Given the description of an element on the screen output the (x, y) to click on. 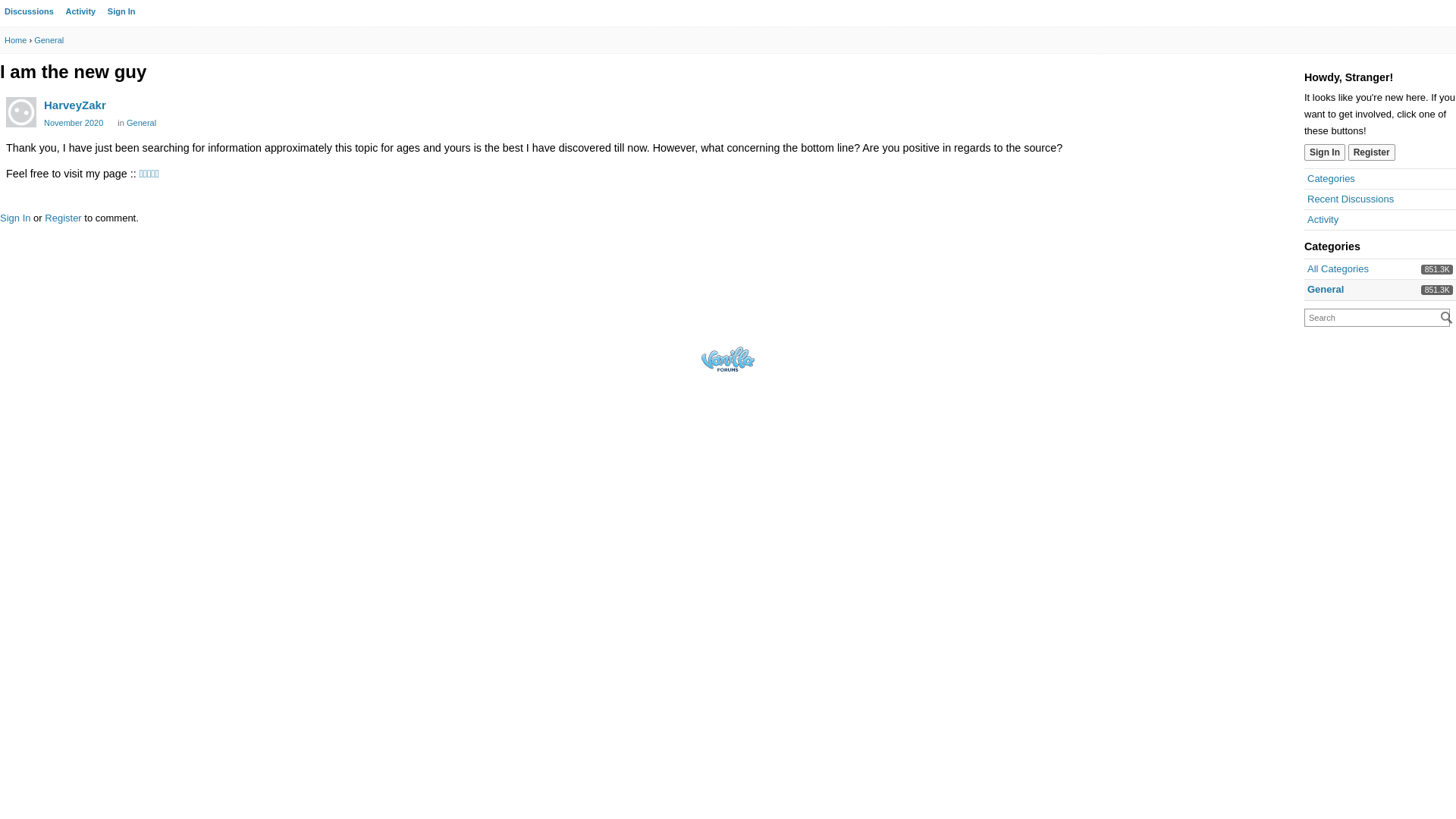
Recent Discussions Element type: text (1350, 198)
Discussions Element type: text (29, 11)
Activity Element type: text (1322, 219)
Register Element type: text (62, 217)
General Element type: text (141, 122)
Sign In Element type: text (121, 11)
Sign In Element type: text (15, 217)
851.3K
General Element type: text (1325, 288)
Activity Element type: text (80, 11)
Go Element type: text (1446, 317)
HarveyZakr Element type: hover (21, 112)
Register Element type: text (1371, 152)
November 2020 Element type: text (73, 122)
Home Element type: text (15, 39)
HarveyZakr Element type: text (74, 104)
Sign In Element type: text (1324, 152)
851.3K
All Categories Element type: text (1337, 268)
Powered by Vanilla Element type: text (727, 358)
Categories Element type: text (1331, 178)
General Element type: text (48, 39)
